Given the description of an element on the screen output the (x, y) to click on. 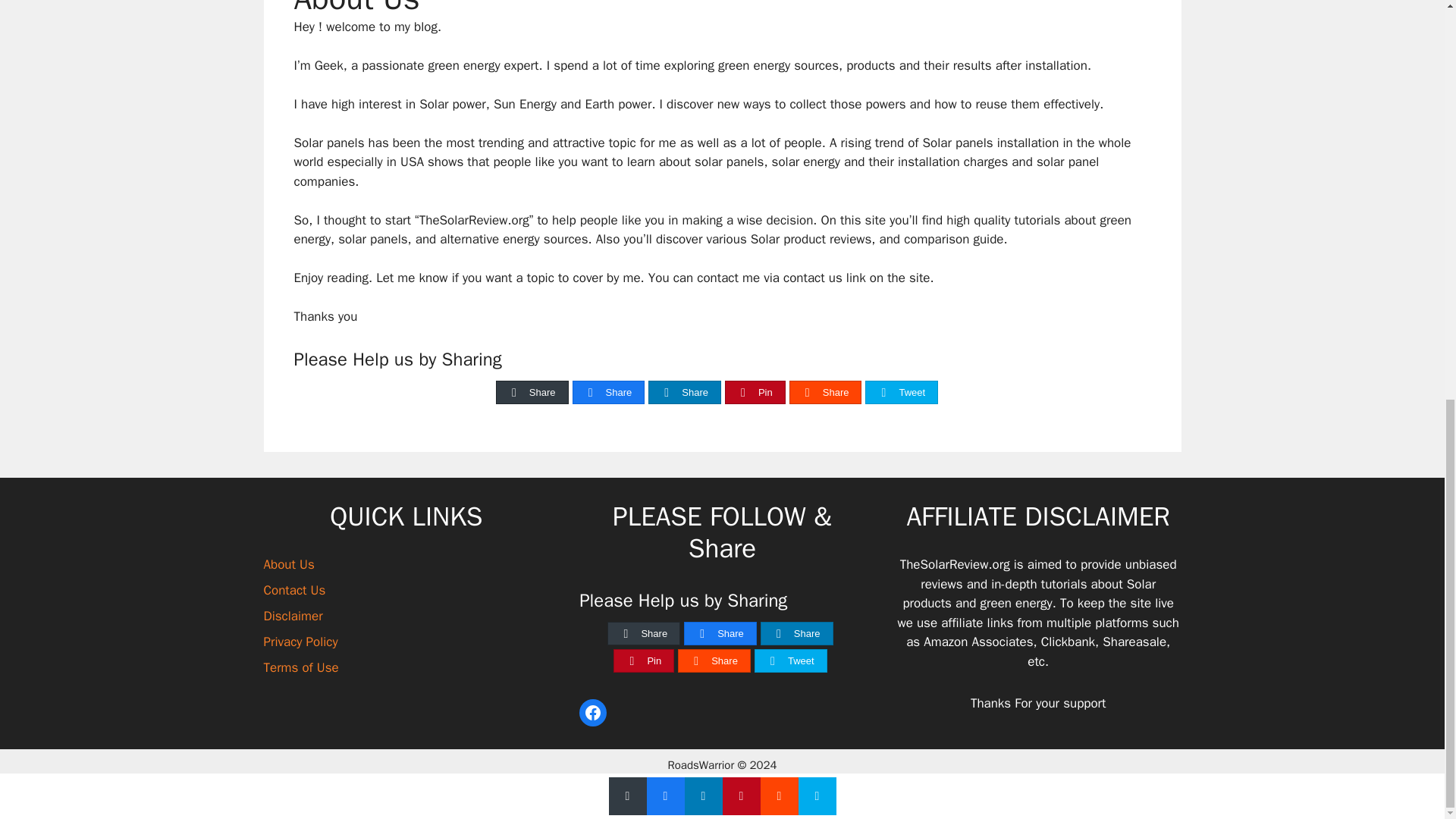
Share (713, 660)
Terms of Use (301, 667)
Privacy Policy (300, 641)
Tweet (791, 660)
About Us (288, 564)
Share (531, 392)
Share (719, 633)
Tweet (901, 392)
Pin (643, 660)
Share (684, 392)
Contact Us (294, 590)
Share (796, 633)
Share (825, 392)
Pin (754, 392)
Share (609, 392)
